Given the description of an element on the screen output the (x, y) to click on. 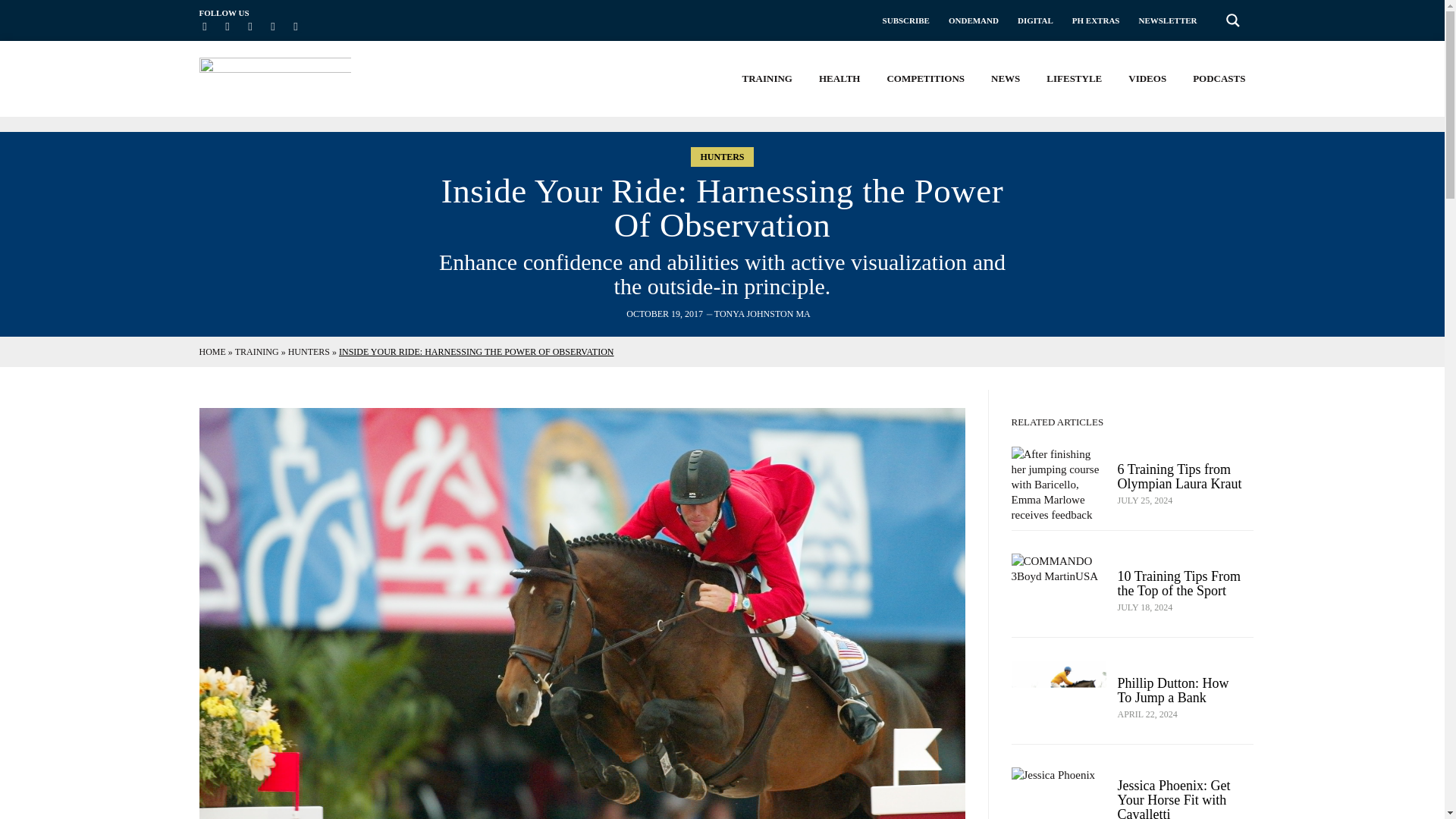
SUBSCRIBE (906, 20)
Phillip Dutton: How To Jump a Bank (1058, 698)
Phillip Dutton: How To Jump a Bank (1173, 690)
6 Training Tips from Olympian Laura Kraut (1179, 476)
10 Training Tips From the Top of the Sport (1179, 583)
Jessica Phoenix: Get Your Horse Fit with Cavalletti (1174, 798)
HEALTH (839, 78)
10 Training Tips From the Top of the Sport (1058, 591)
6 Training Tips from Olympian Laura Kraut (1058, 484)
ONDEMAND (973, 20)
